Given the description of an element on the screen output the (x, y) to click on. 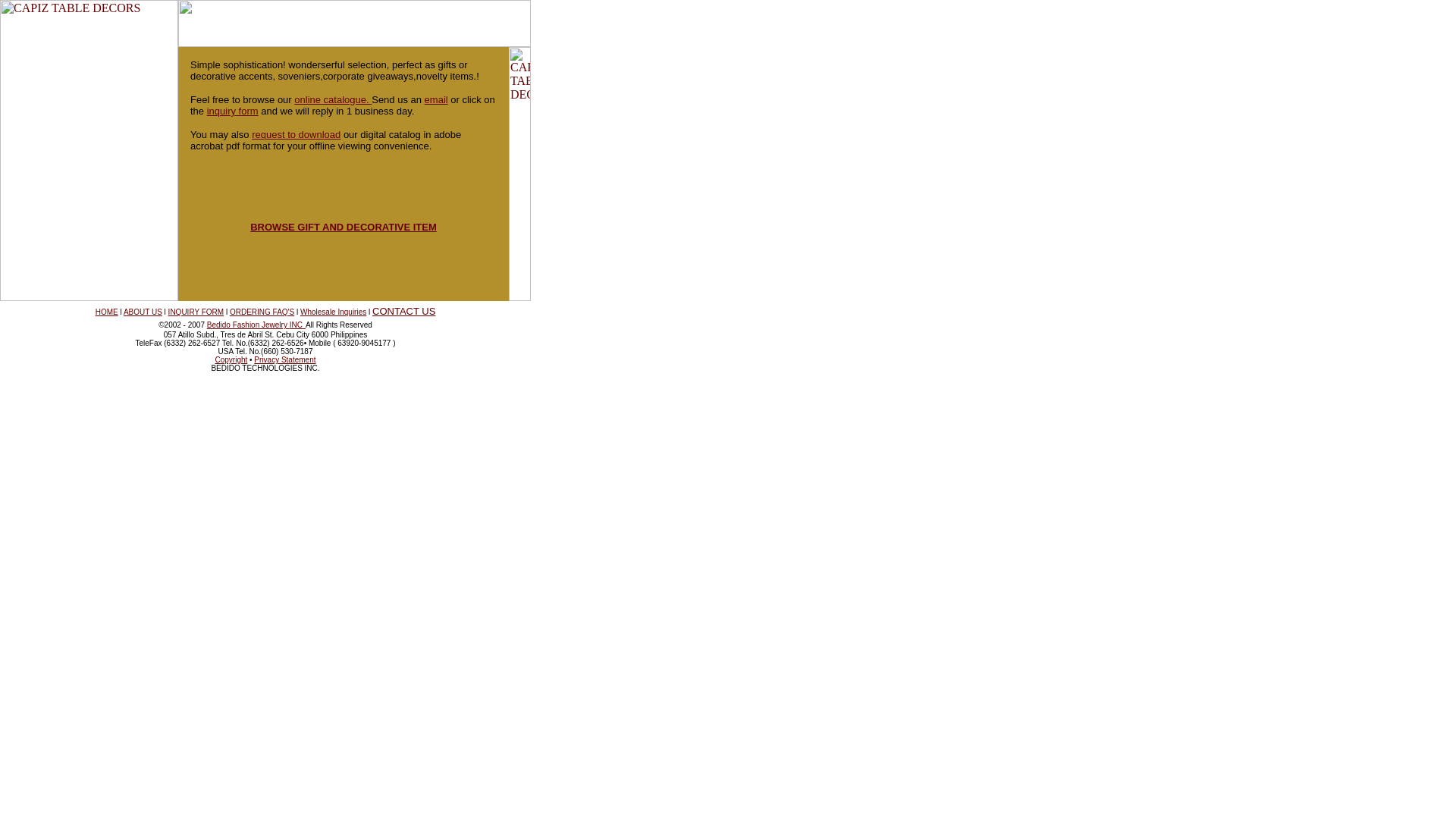
Bedido Fashion Jewelry (247, 325)
INC (297, 323)
INQUIRY FORM (196, 311)
BROWSE GIFT AND DECORATIVE ITEM (343, 226)
HOME (106, 311)
Privacy Statement (284, 359)
ABOUT US (142, 311)
online catalogue. (332, 99)
inquiry form (232, 111)
CONTACT US (403, 310)
